Given the description of an element on the screen output the (x, y) to click on. 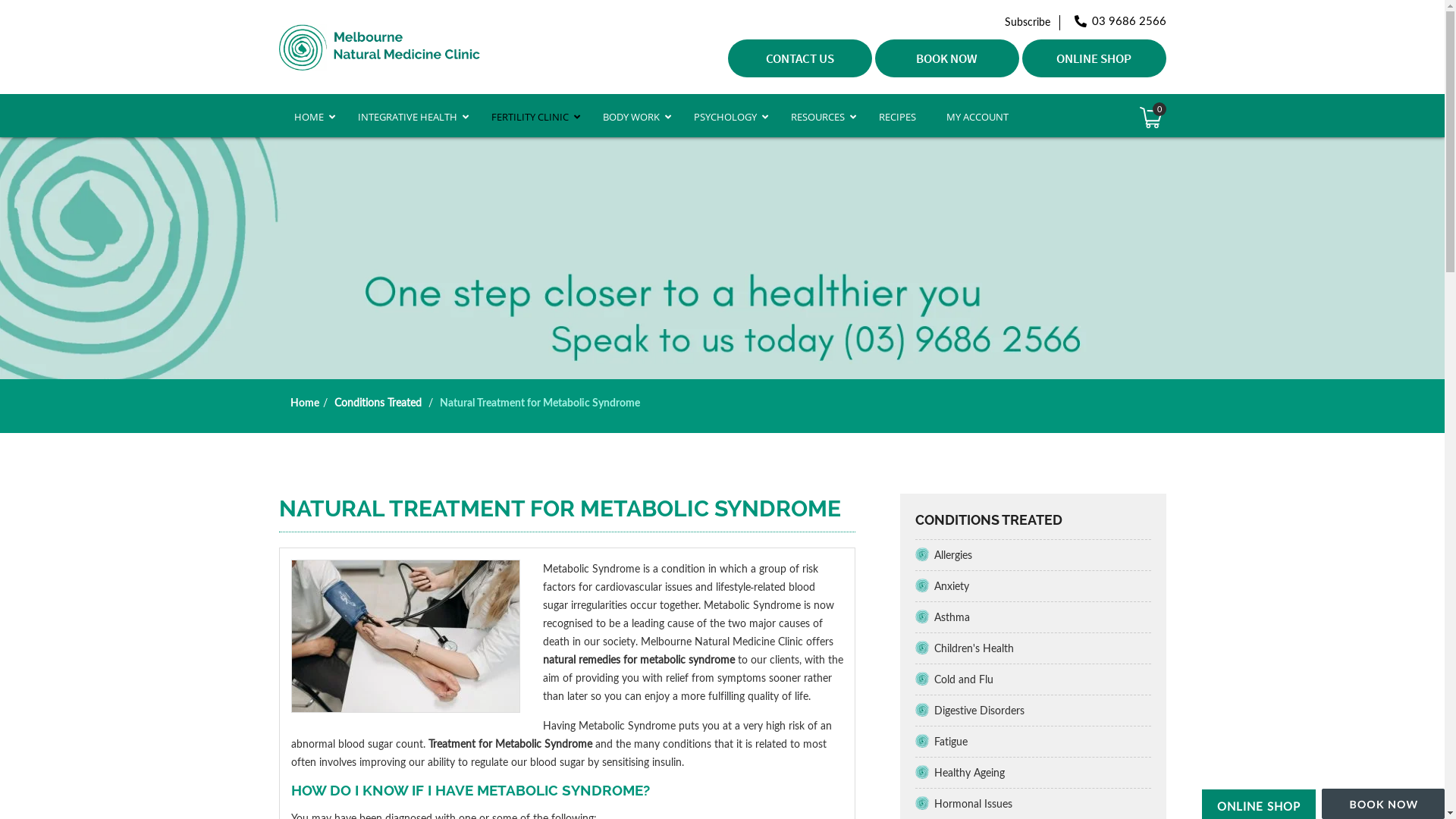
metabolic-syndrome Element type: hover (405, 635)
Natural Medicine Dispensary Element type: hover (379, 45)
ONLINE SHOP Element type: text (1094, 58)
Fatigue Element type: text (1038, 741)
BOOK NOW Element type: text (947, 58)
Conditions Treated Element type: text (376, 401)
MY ACCOUNT Element type: text (977, 116)
Anxiety Element type: text (1038, 586)
INTEGRATIVE HEALTH Element type: text (409, 116)
Healthy Ageing Element type: text (1038, 772)
PSYCHOLOGY Element type: text (726, 116)
Cold and Flu Element type: text (1038, 679)
Digestive Disorders Element type: text (1038, 710)
ONLINE SHOP Element type: text (1258, 805)
RECIPES Element type: text (896, 116)
Children's Health Element type: text (1038, 648)
Subscribe Element type: text (1031, 21)
Asthma Element type: text (1038, 617)
CONTACT US Element type: text (800, 58)
03 9686 2566 Element type: text (1119, 21)
RESOURCES Element type: text (818, 116)
HOME Element type: text (310, 116)
BODY WORK Element type: text (631, 116)
Allergies Element type: text (1038, 554)
0 Element type: text (1150, 117)
Home Element type: text (303, 401)
